Given the description of an element on the screen output the (x, y) to click on. 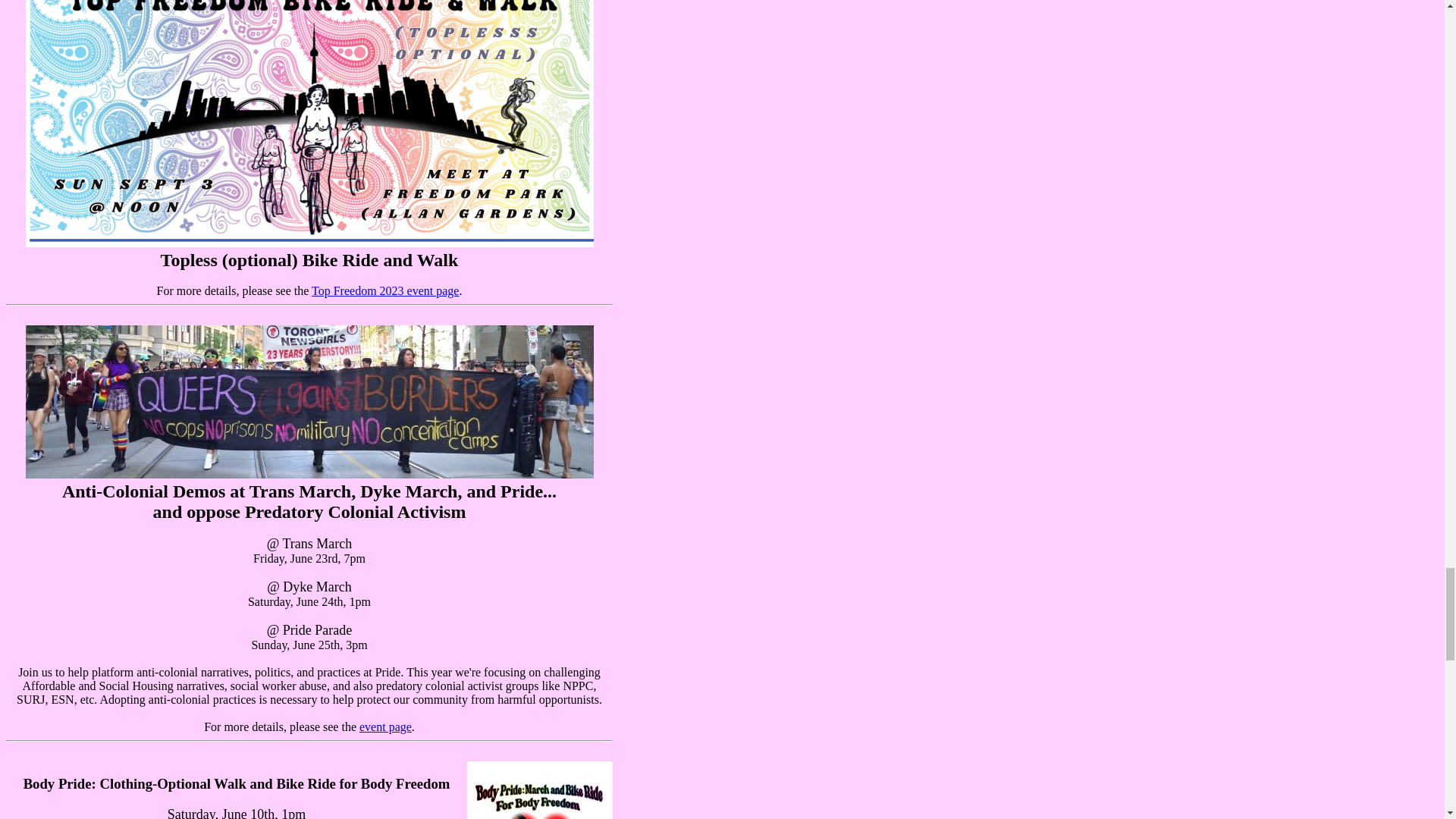
event page (385, 726)
Top Freedom 2023 event page (384, 290)
